Given the description of an element on the screen output the (x, y) to click on. 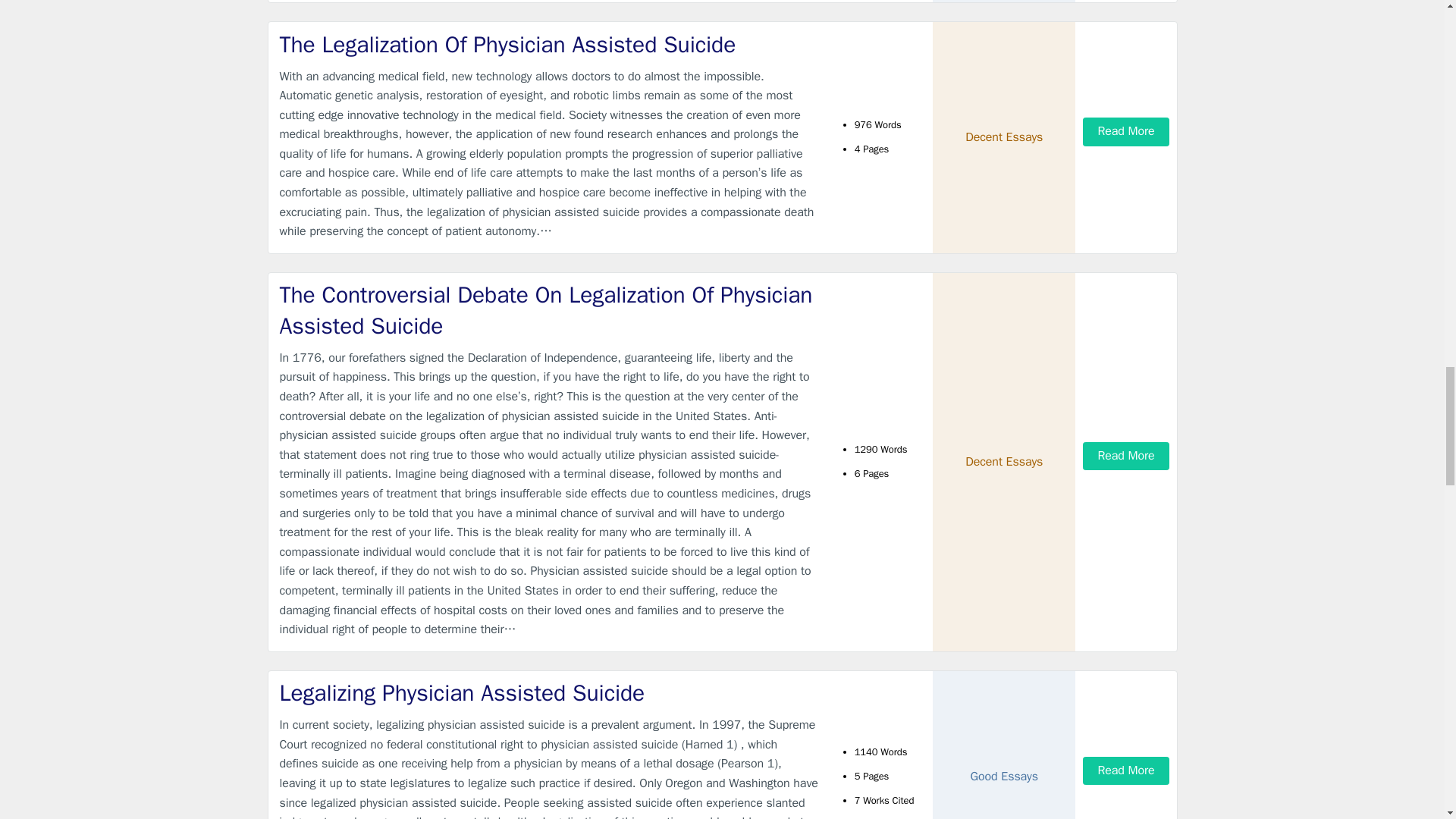
Read More (1126, 456)
Read More (1126, 131)
The Legalization Of Physician Assisted Suicide (548, 44)
